Given the description of an element on the screen output the (x, y) to click on. 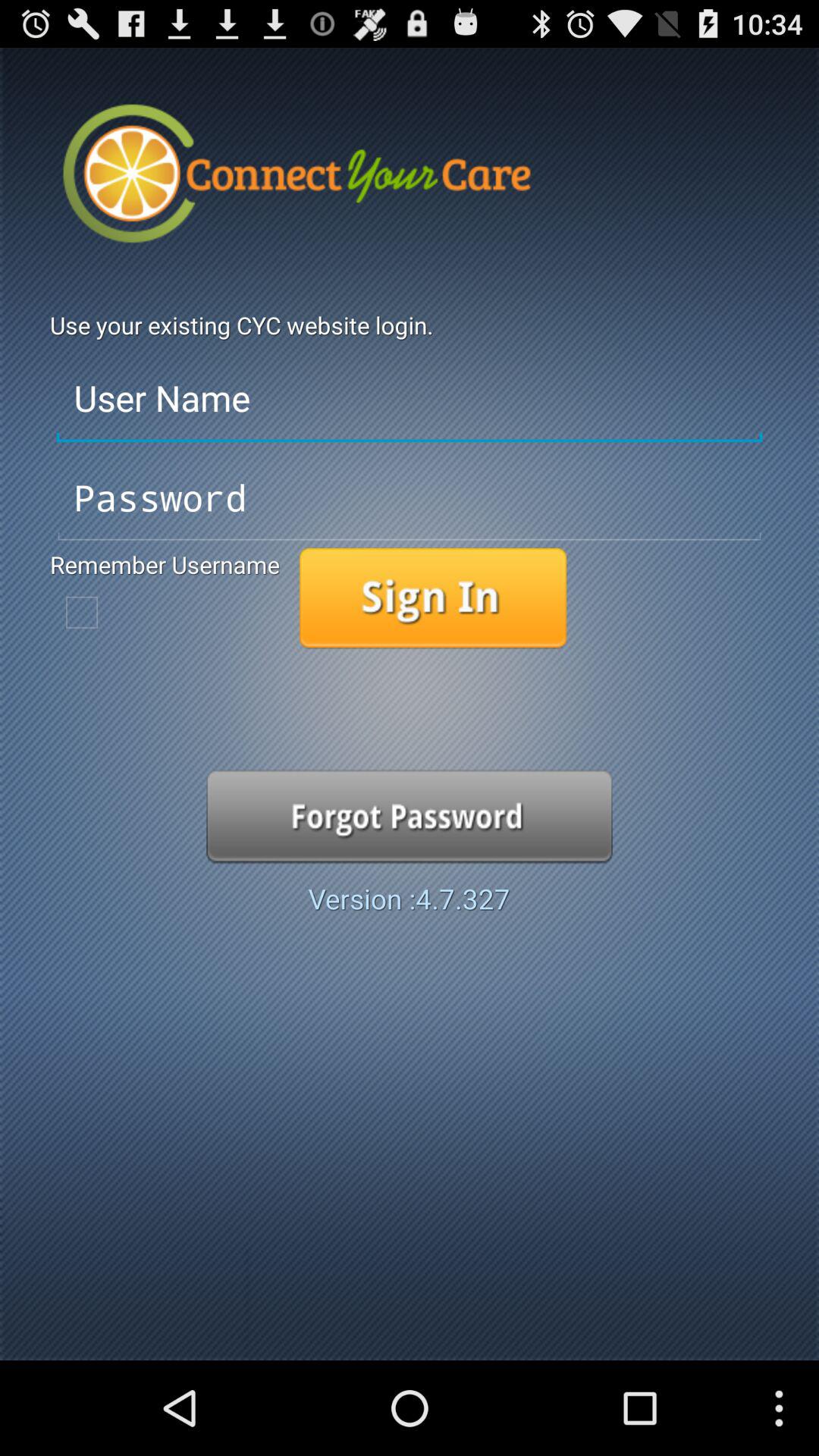
enter into the page (432, 598)
